Given the description of an element on the screen output the (x, y) to click on. 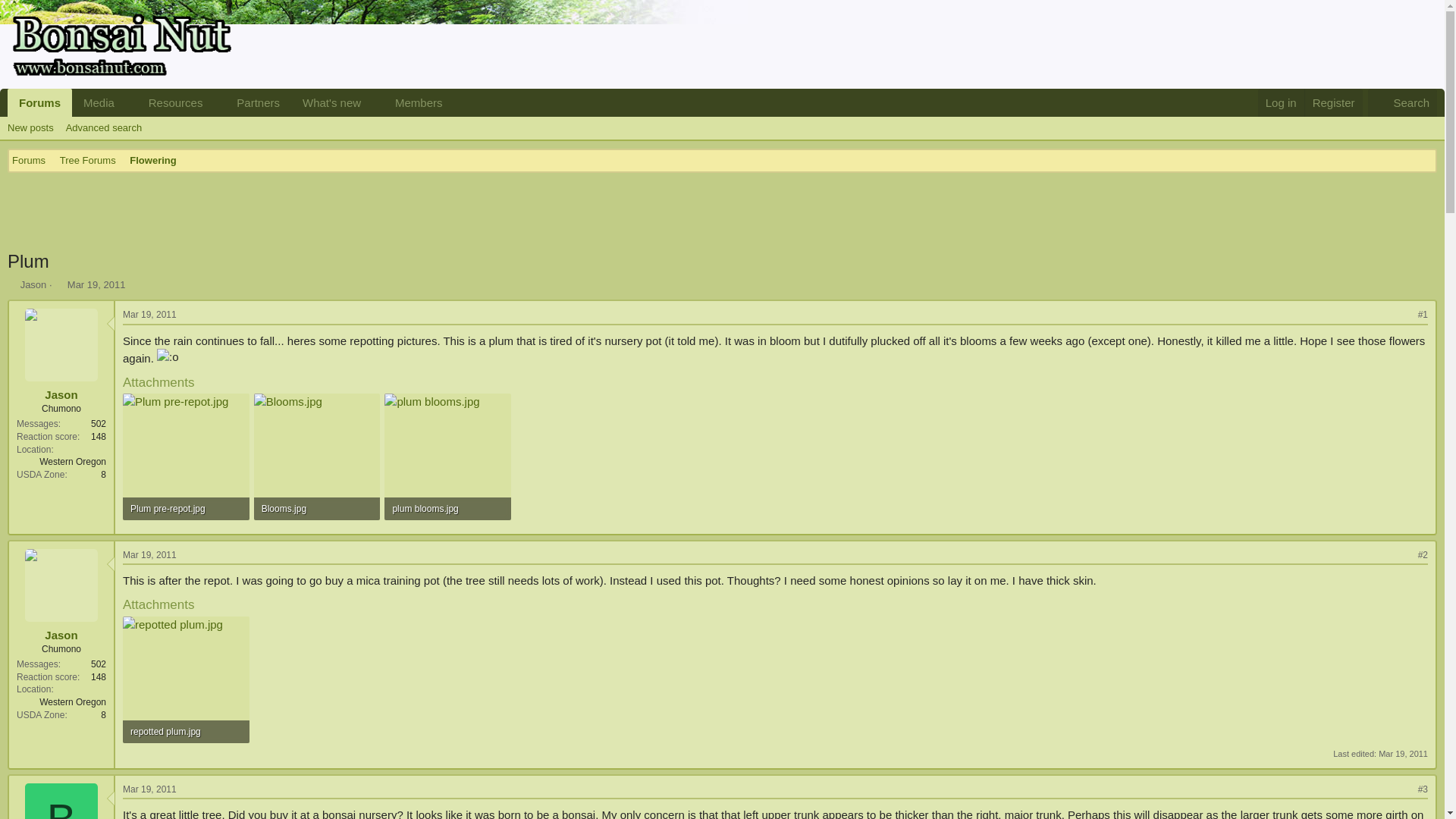
Members (414, 102)
Mar 19, 2011 at 3:49 PM (235, 102)
plum blooms.jpg (95, 284)
Resources (447, 508)
repotted plum.jpg (235, 102)
Mar 19, 2011 at 4:01 PM (170, 102)
Partners (186, 731)
Advanced search (1403, 753)
